Given the description of an element on the screen output the (x, y) to click on. 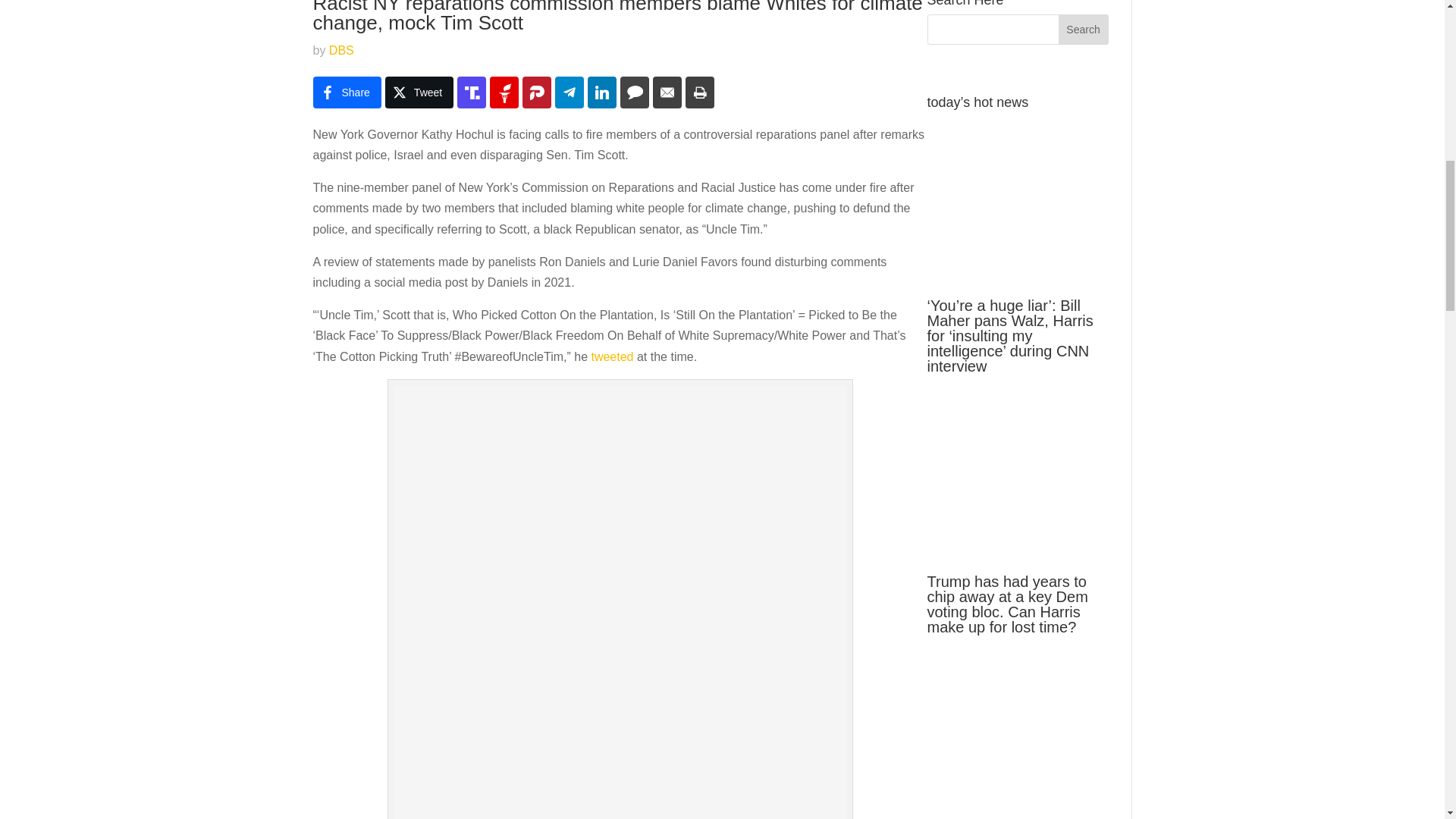
DBS (341, 50)
Search (1083, 29)
Share on Tweet (418, 92)
Share on Share (346, 92)
Share on Truth (471, 92)
Share on LinkedIn (601, 92)
Share on Parler (536, 92)
tweeted (612, 356)
